Given the description of an element on the screen output the (x, y) to click on. 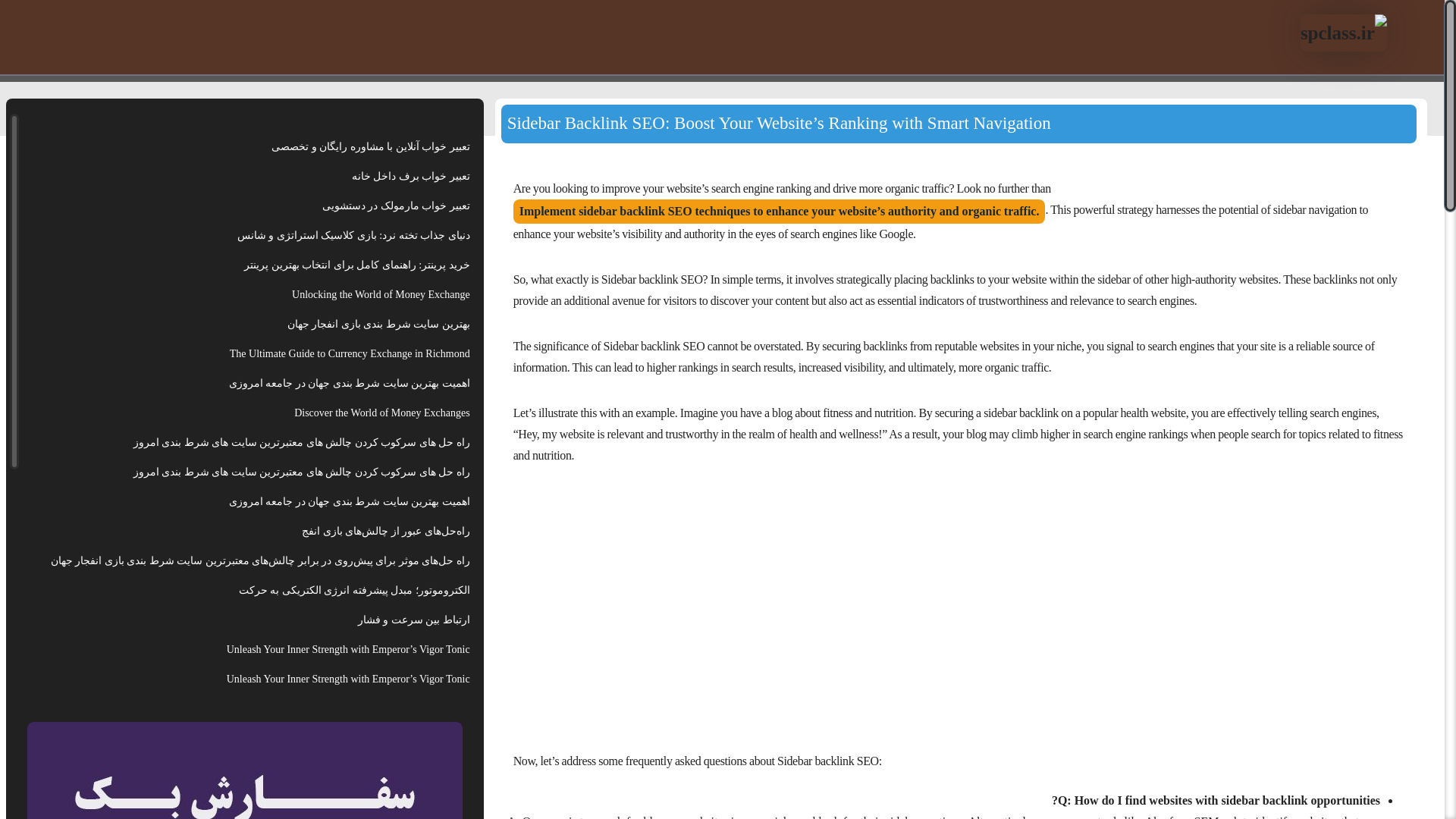
The Ultimate Guide to Currency Exchange in Richmond (350, 353)
Unlocking the World of Money Exchange (381, 294)
Discover the World of Money Exchanges (382, 412)
